Given the description of an element on the screen output the (x, y) to click on. 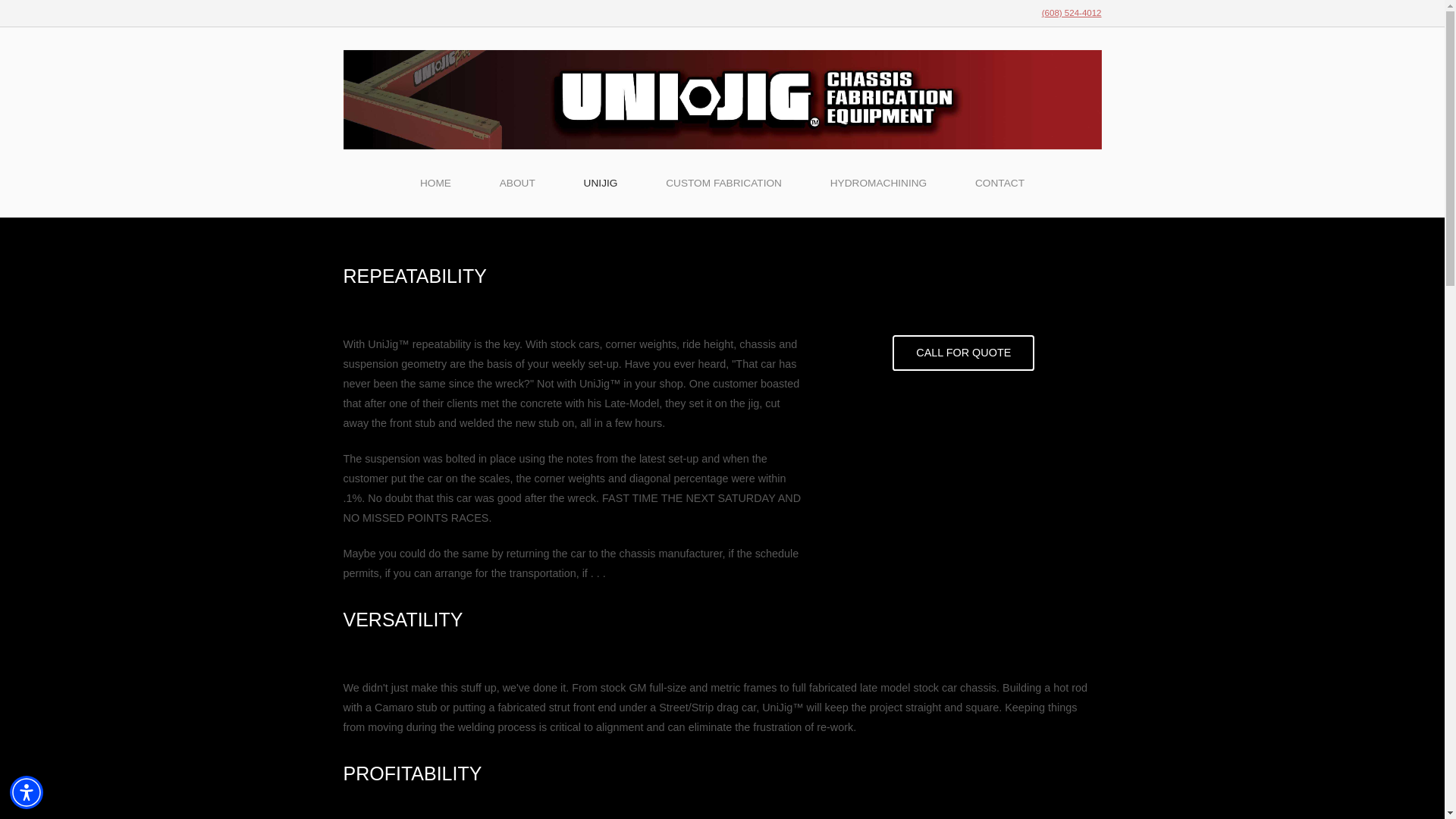
UNIJIG (600, 183)
Accessibility Menu (26, 792)
CUSTOM FABRICATION (724, 183)
HOME (435, 183)
ABOUT (517, 183)
CONTACT (999, 183)
HYDROMACHINING (878, 183)
CALL FOR QUOTE (962, 352)
